Given the description of an element on the screen output the (x, y) to click on. 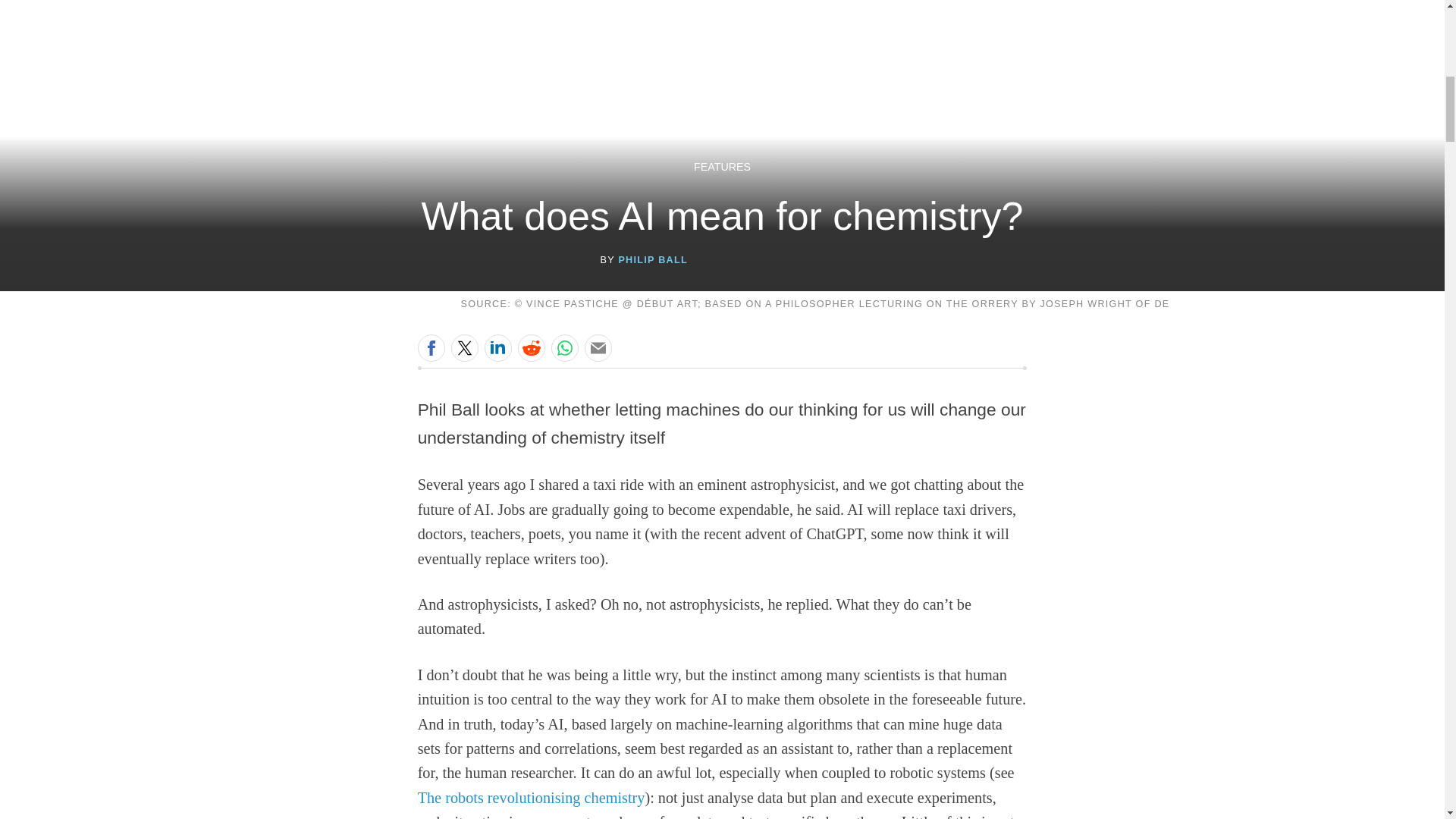
Share this by email (598, 347)
Share this on WhatsApp (564, 347)
Share this on LinkedIn (498, 347)
Share this on Facebook (431, 347)
Share this on Reddit (531, 347)
